Given the description of an element on the screen output the (x, y) to click on. 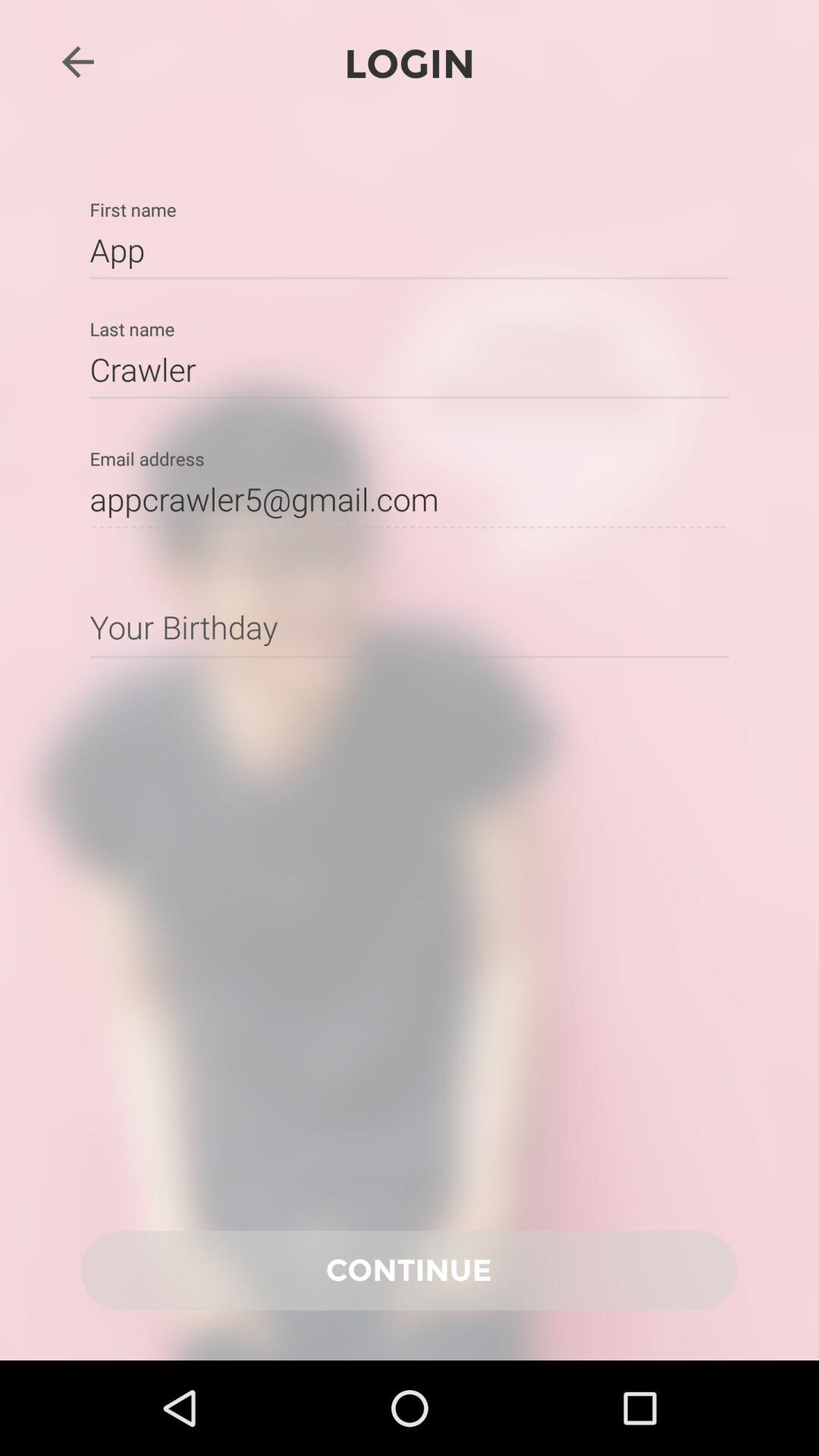
input information (409, 626)
